Given the description of an element on the screen output the (x, y) to click on. 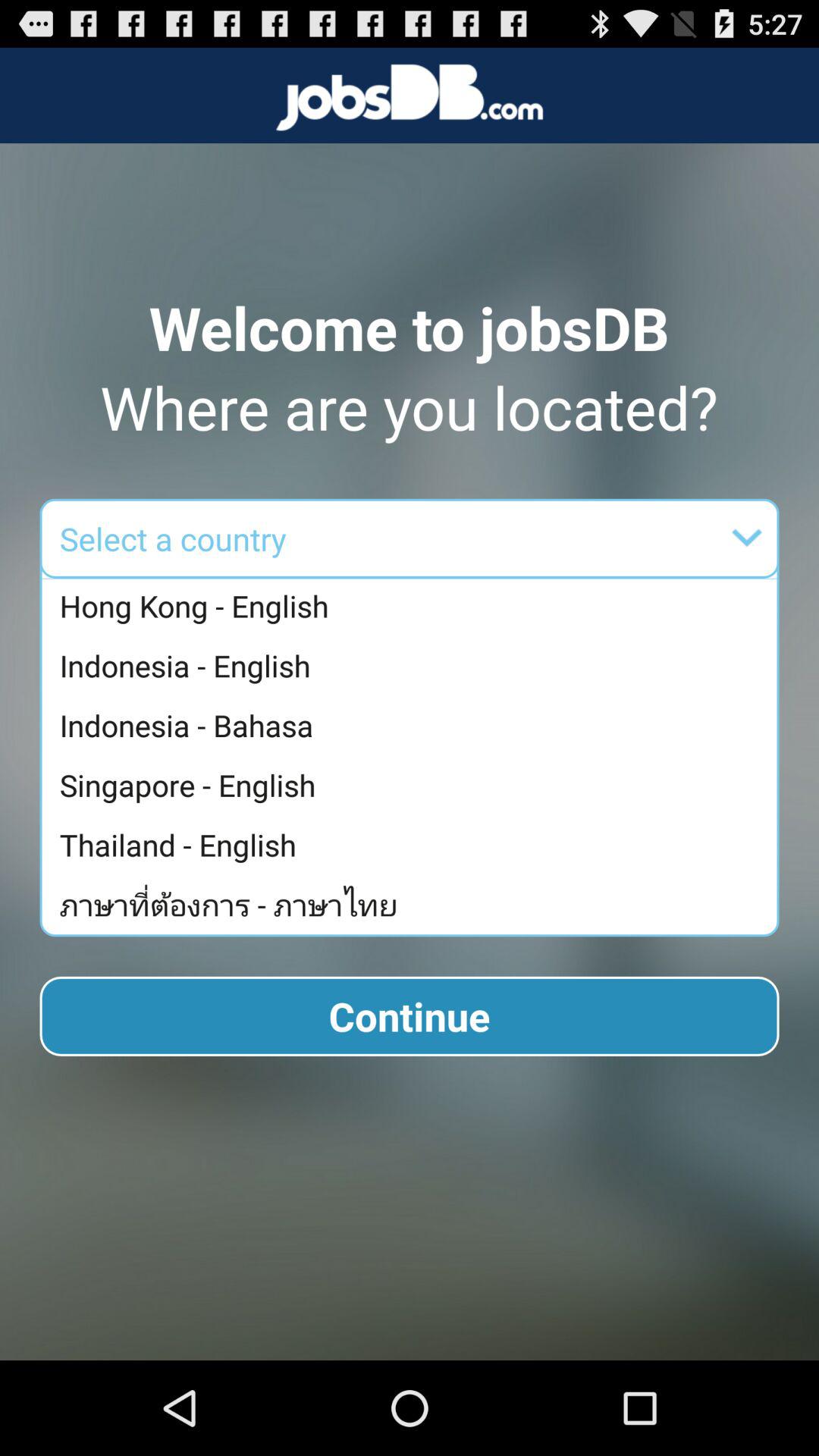
choose app below indonesia - english (413, 725)
